Given the description of an element on the screen output the (x, y) to click on. 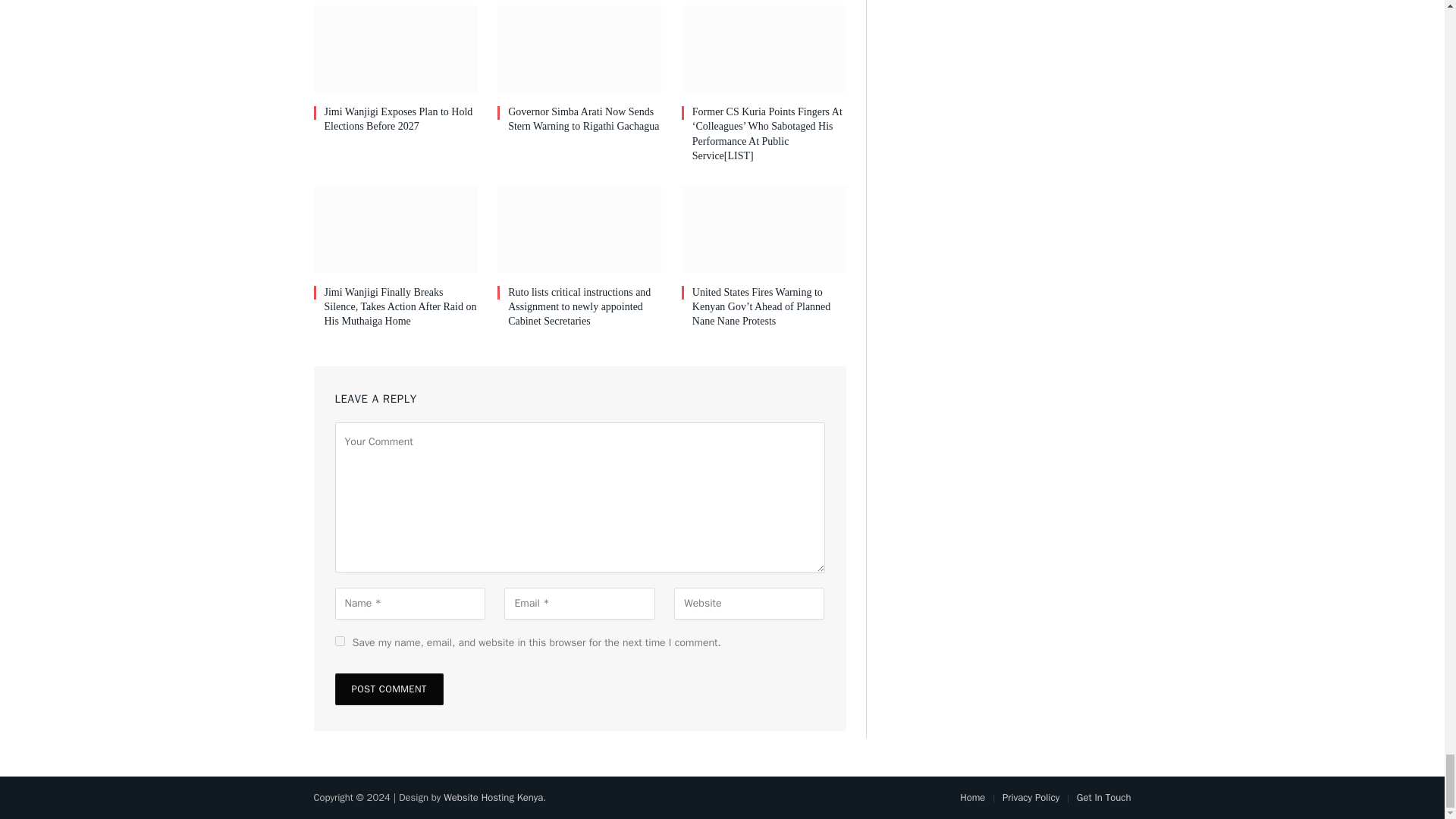
Post Comment (389, 689)
yes (339, 641)
Jimi Wanjigi Exposes Plan to Hold Elections Before 2027 (401, 118)
